Given the description of an element on the screen output the (x, y) to click on. 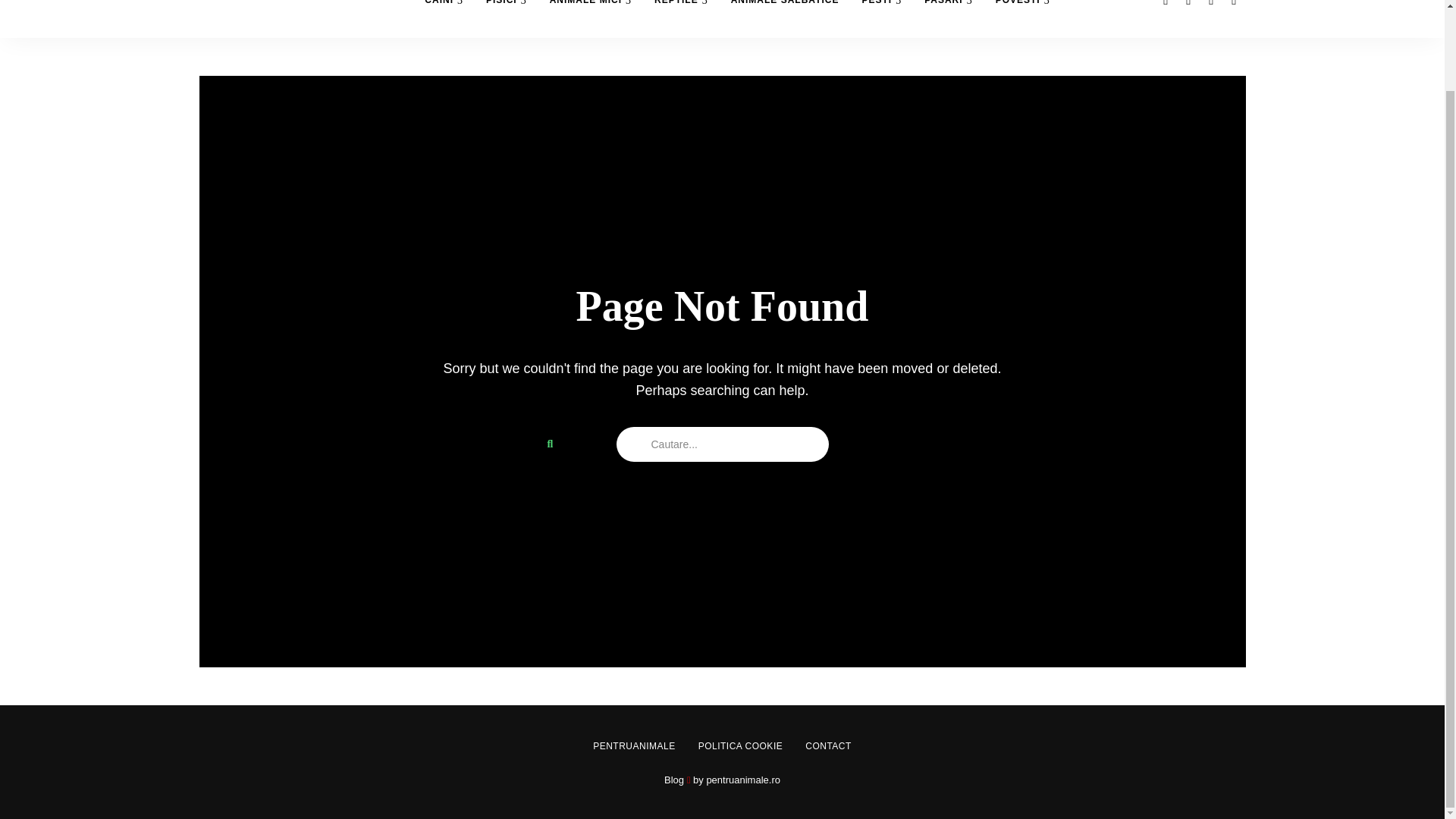
POVESTI (1022, 18)
REPTILE (681, 18)
ANIMALE SALBATICE (784, 18)
PASARI (948, 18)
PISICI (506, 18)
PESTI (881, 18)
ANIMALE MICI (590, 18)
CAINI (443, 18)
